Given the description of an element on the screen output the (x, y) to click on. 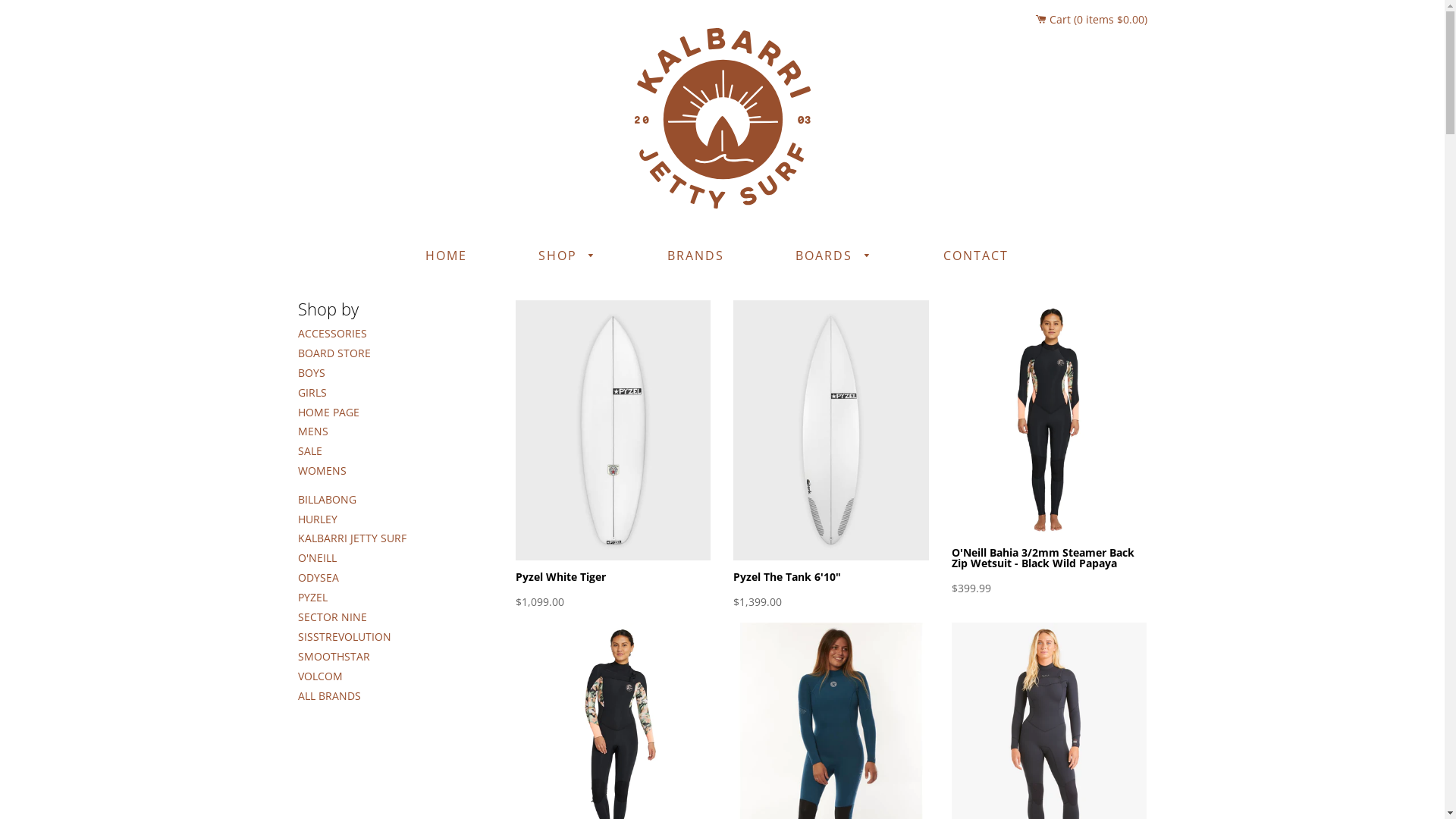
BRANDS Element type: text (695, 256)
KALBARRI JETTY SURF Element type: text (351, 537)
VOLCOM Element type: text (319, 675)
BOYS Element type: text (310, 372)
Pyzel White Tiger Element type: text (560, 576)
SMOOTHSTAR Element type: text (333, 656)
ACCESSORIES Element type: text (331, 333)
ODYSEA Element type: text (317, 577)
HURLEY Element type: text (316, 518)
PYZEL Element type: text (311, 596)
BOARDS Element type: text (833, 256)
HOME PAGE Element type: text (327, 411)
WOMENS Element type: text (321, 470)
BOARD STORE Element type: text (333, 352)
Cart (0 items $0.00) Element type: text (1091, 19)
SHOP Element type: text (566, 256)
SALE Element type: text (309, 450)
SECTOR NINE Element type: text (331, 616)
O'NEILL Element type: text (316, 557)
CONTACT Element type: text (975, 256)
HOME Element type: text (446, 256)
SISSTREVOLUTION Element type: text (343, 636)
MENS Element type: text (312, 430)
Pyzel The Tank 6'10" Element type: text (786, 576)
BILLABONG Element type: text (326, 499)
GIRLS Element type: text (311, 392)
ALL BRANDS Element type: text (328, 695)
